Given the description of an element on the screen output the (x, y) to click on. 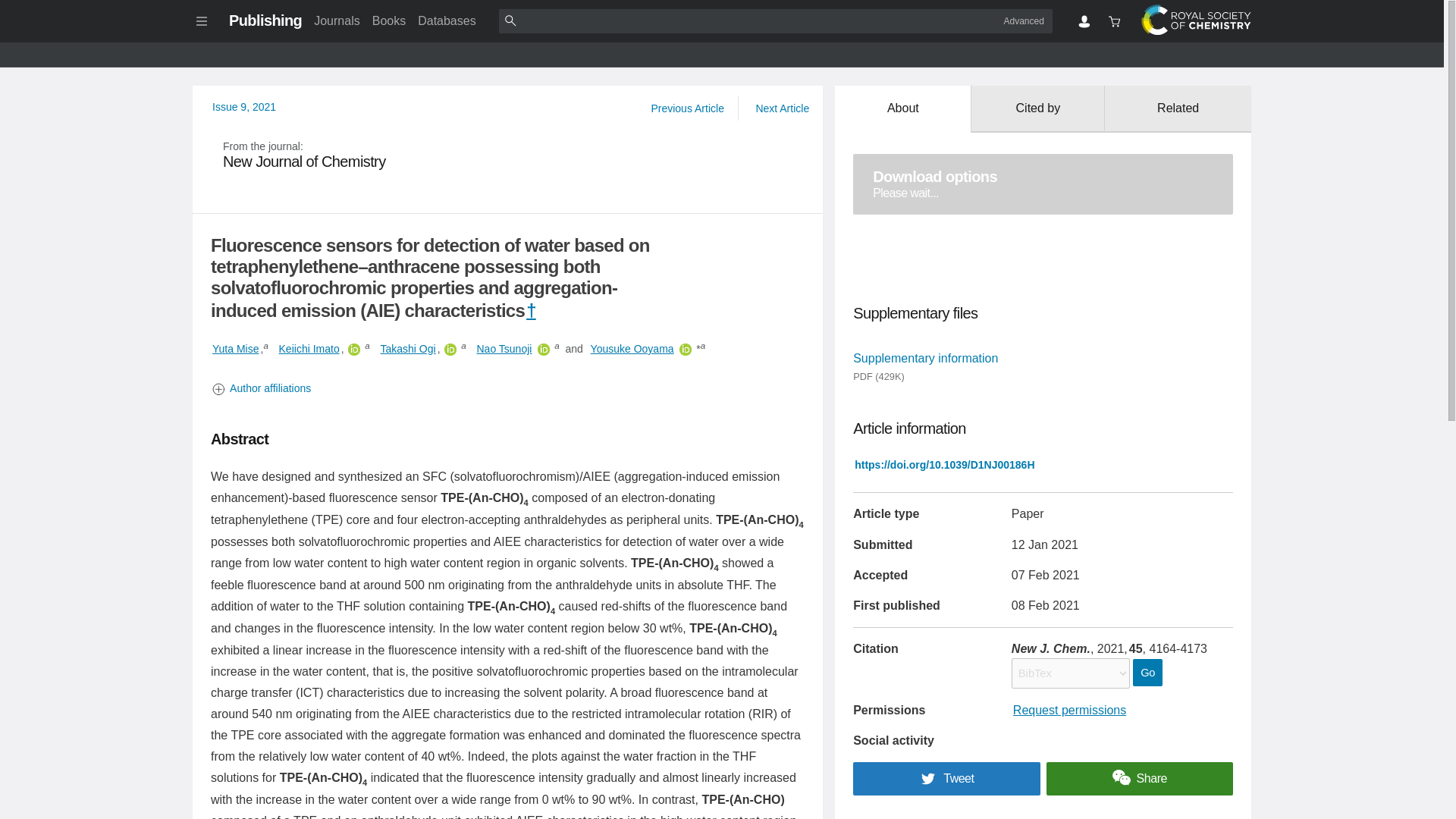
About (902, 108)
Takashi Ogi (408, 348)
Previous Article (687, 107)
Next Article (781, 107)
Related (1177, 108)
Yousuke Ooyama (632, 348)
Issue 9, 2021 (244, 106)
Publishing home page (264, 20)
Nao Tsunoji (503, 348)
Go (1146, 672)
Author affiliations (508, 388)
Issue 9, 2021 (508, 155)
Keiichi Imato (244, 106)
Go (309, 348)
